Given the description of an element on the screen output the (x, y) to click on. 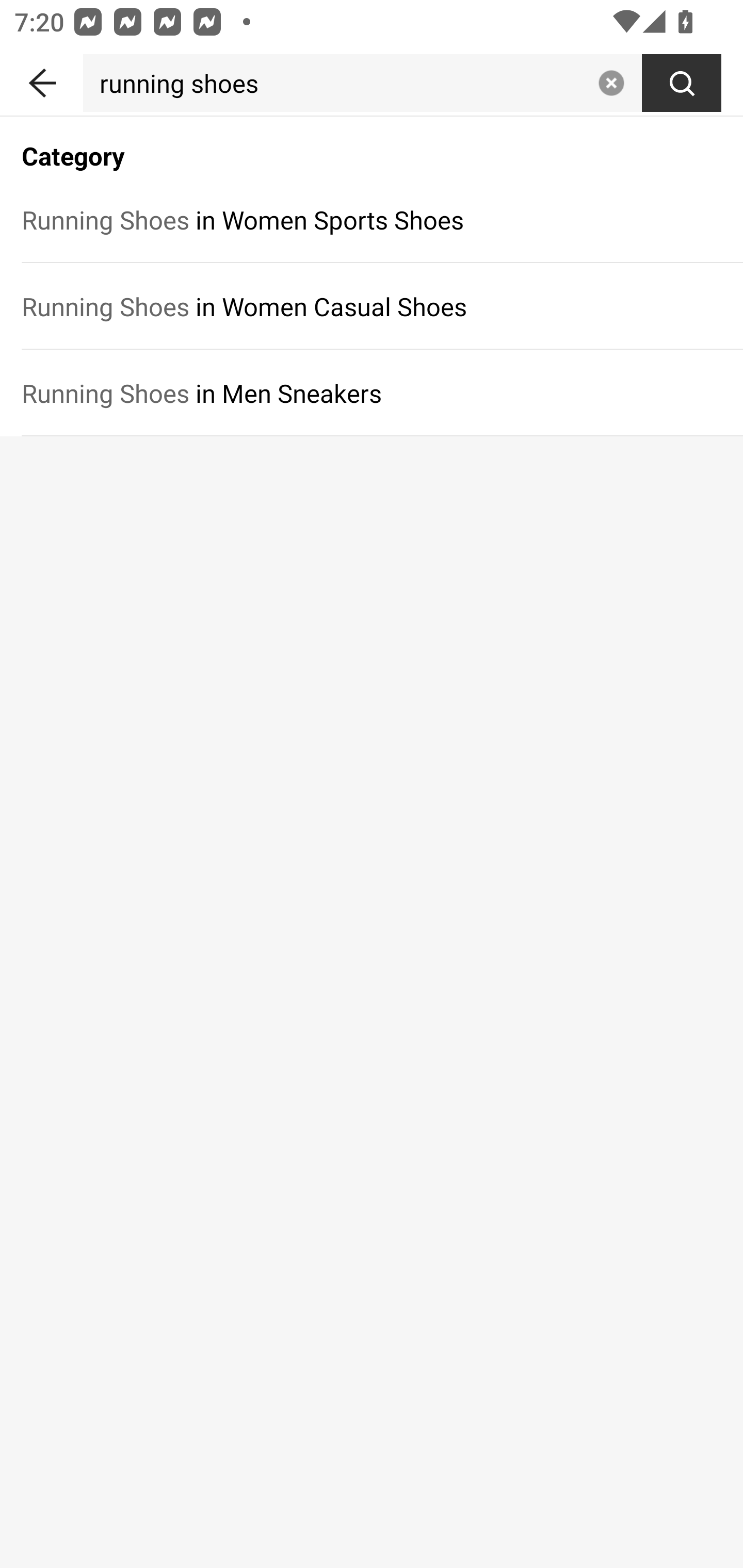
BACK (41, 79)
running shoes (336, 82)
Clear (610, 82)
Category (371, 145)
Running Shoes in Women Sports Shoes (371, 219)
Running Shoes in Women Casual Shoes (371, 306)
Running Shoes in Men Sneakers (371, 392)
